Given the description of an element on the screen output the (x, y) to click on. 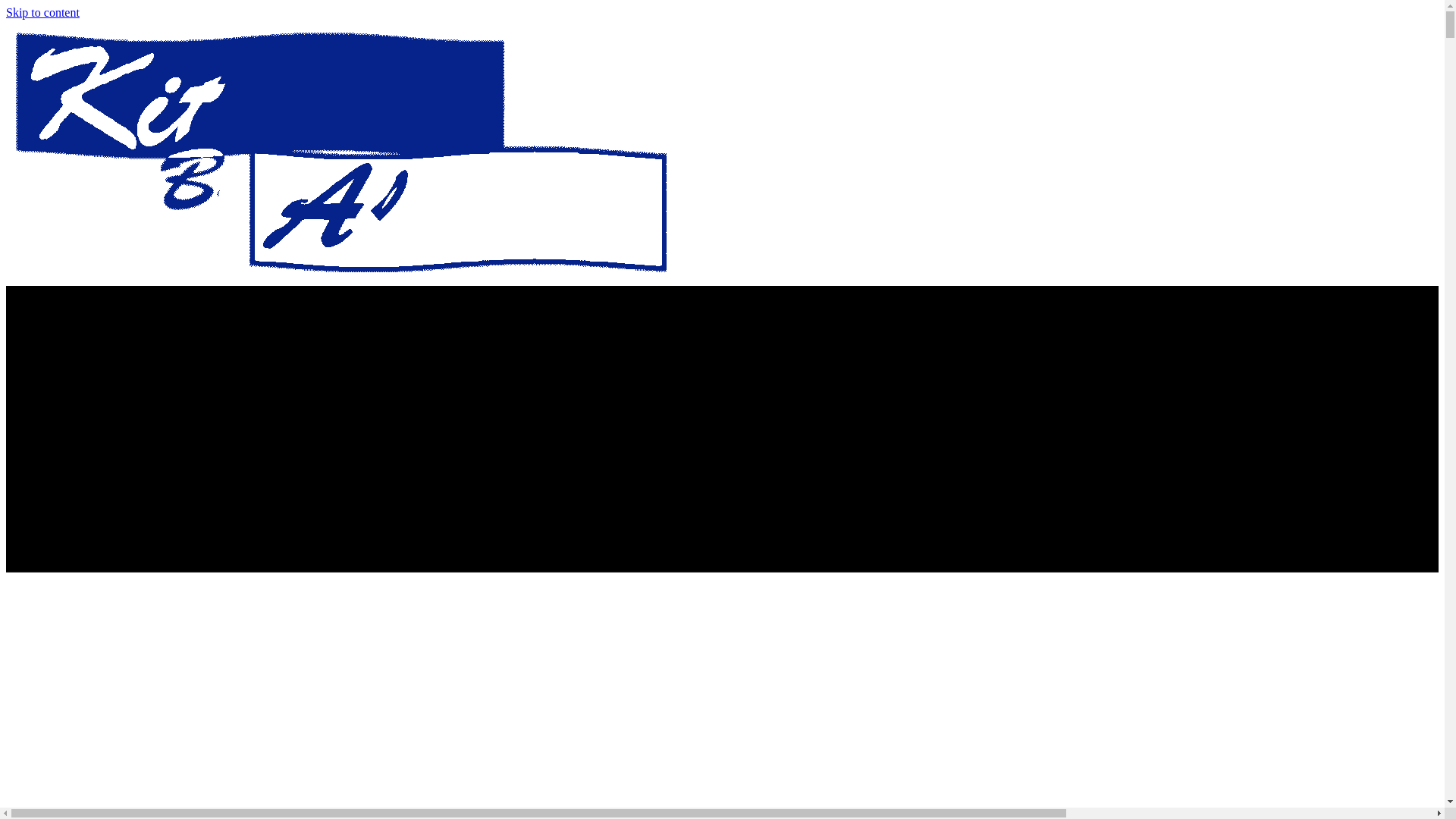
Skip to content Element type: text (42, 12)
kitchen-by-alliance-logo-new Element type: hover (355, 150)
